Given the description of an element on the screen output the (x, y) to click on. 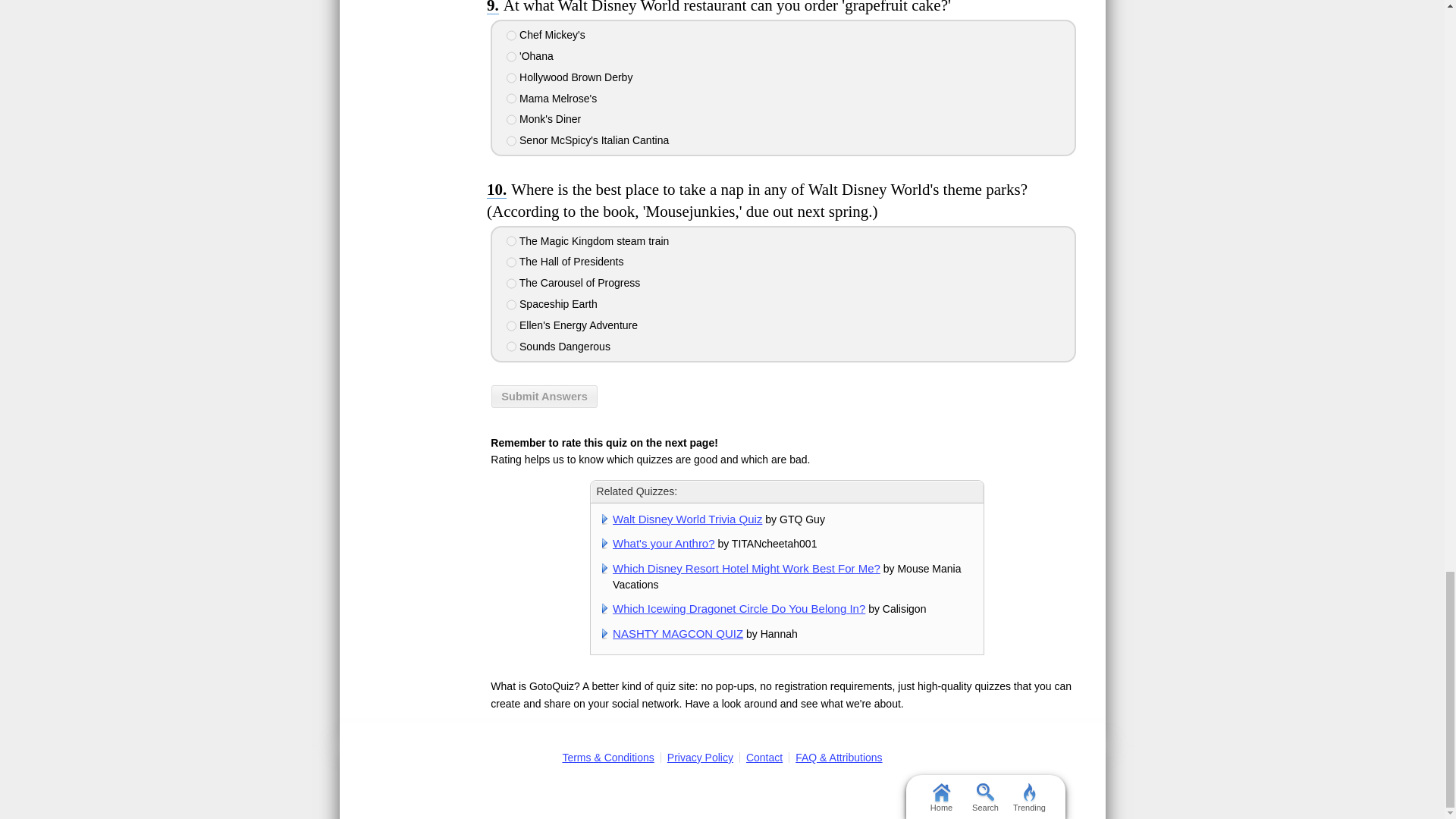
NASHTY MAGCON QUIZ (677, 633)
Submit Answers (544, 395)
Which Icewing Dragonet Circle Do You Belong In? (738, 608)
Walt Disney World Trivia Quiz (686, 518)
What's your Anthro? (663, 543)
Contact (764, 757)
Privacy Policy (699, 757)
Which Disney Resort Hotel Might Work Best For Me? (746, 567)
